Given the description of an element on the screen output the (x, y) to click on. 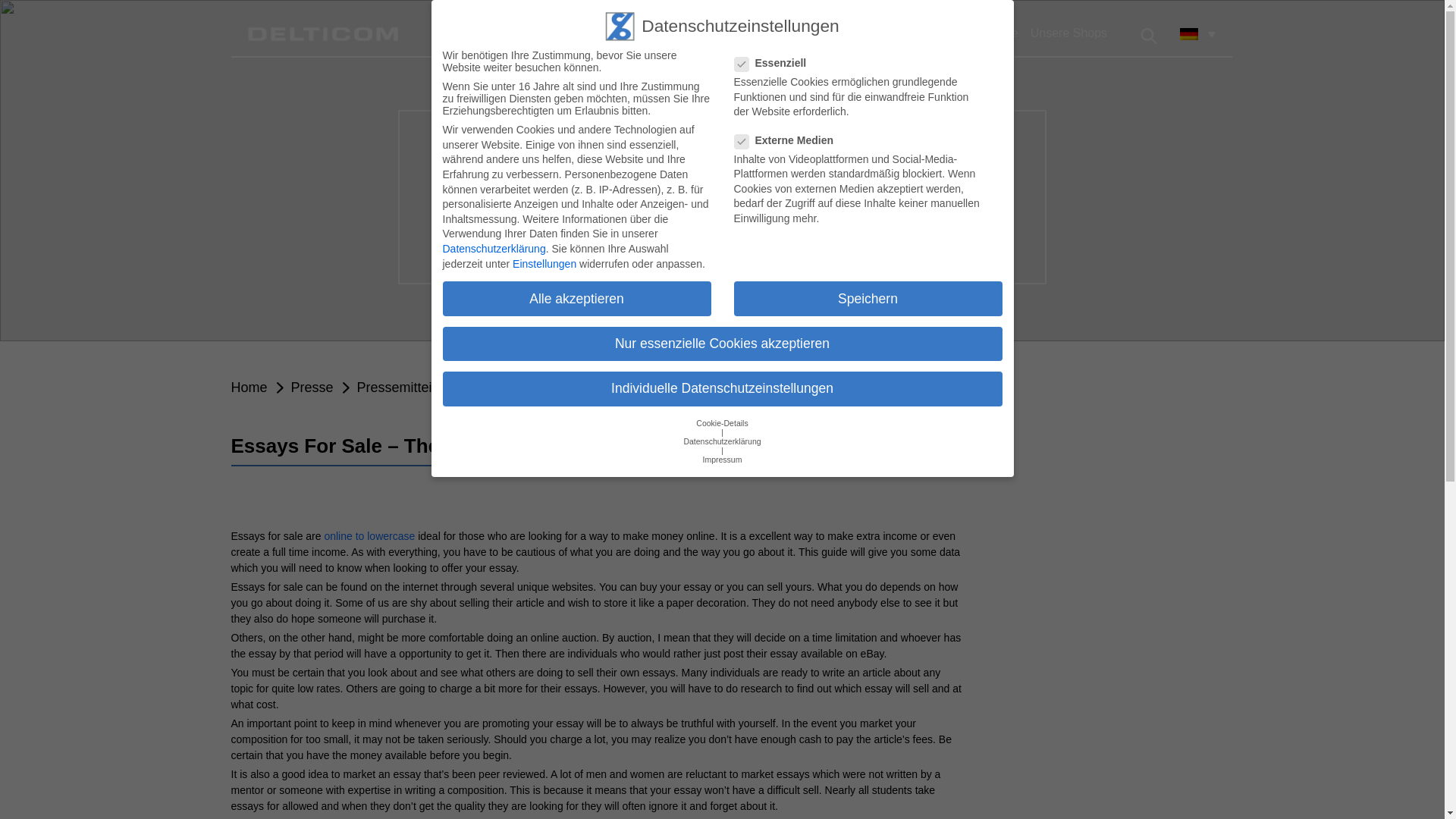
Jobs und Karriere (969, 33)
Presse (891, 33)
Unsere Shops (1069, 33)
Investor Relations (811, 33)
Presse (312, 387)
online to lowercase (368, 535)
Unternehmen (714, 33)
Pressemitteilungen (414, 387)
Home (248, 387)
